Given the description of an element on the screen output the (x, y) to click on. 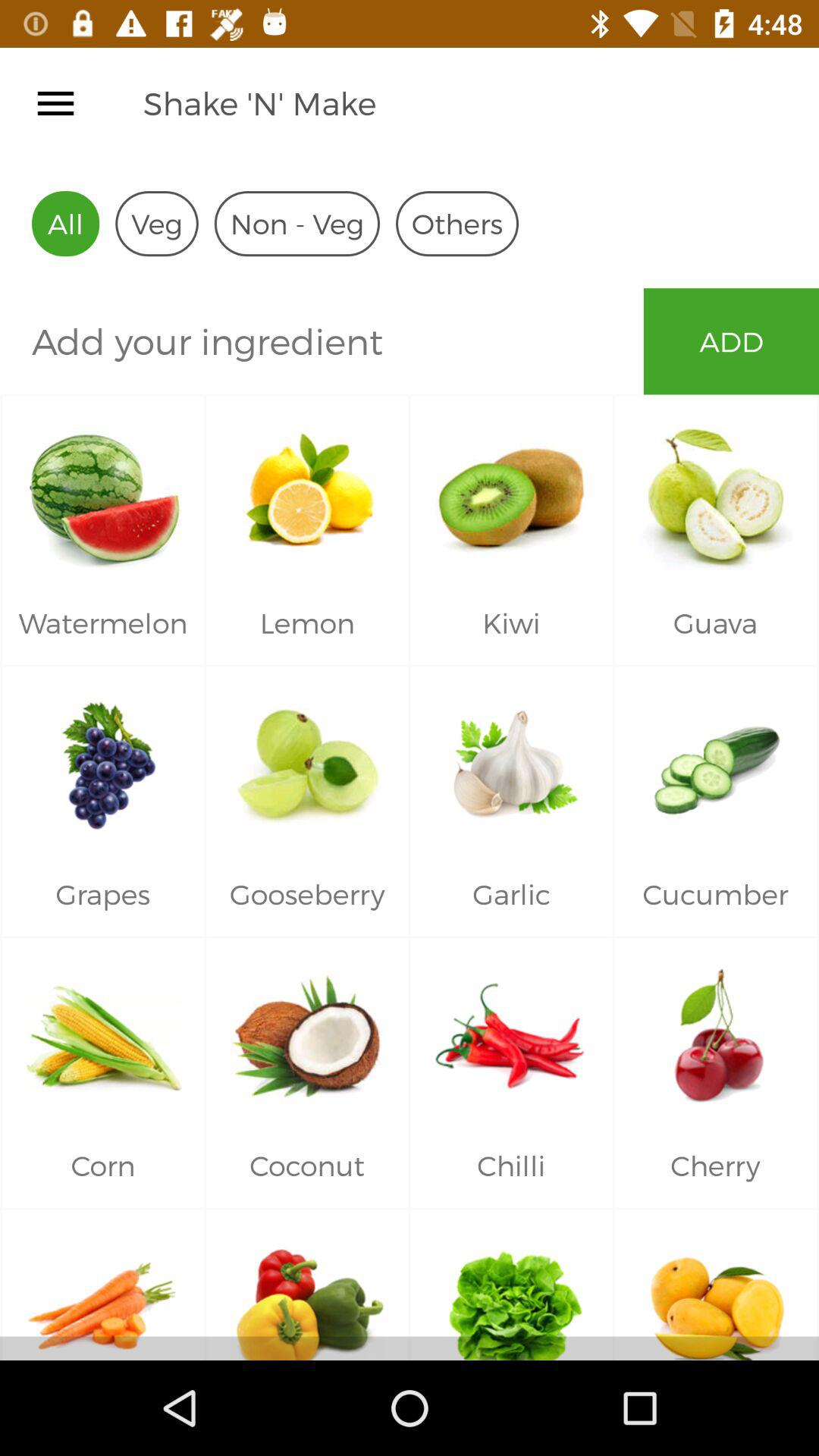
open options tab (55, 103)
